Given the description of an element on the screen output the (x, y) to click on. 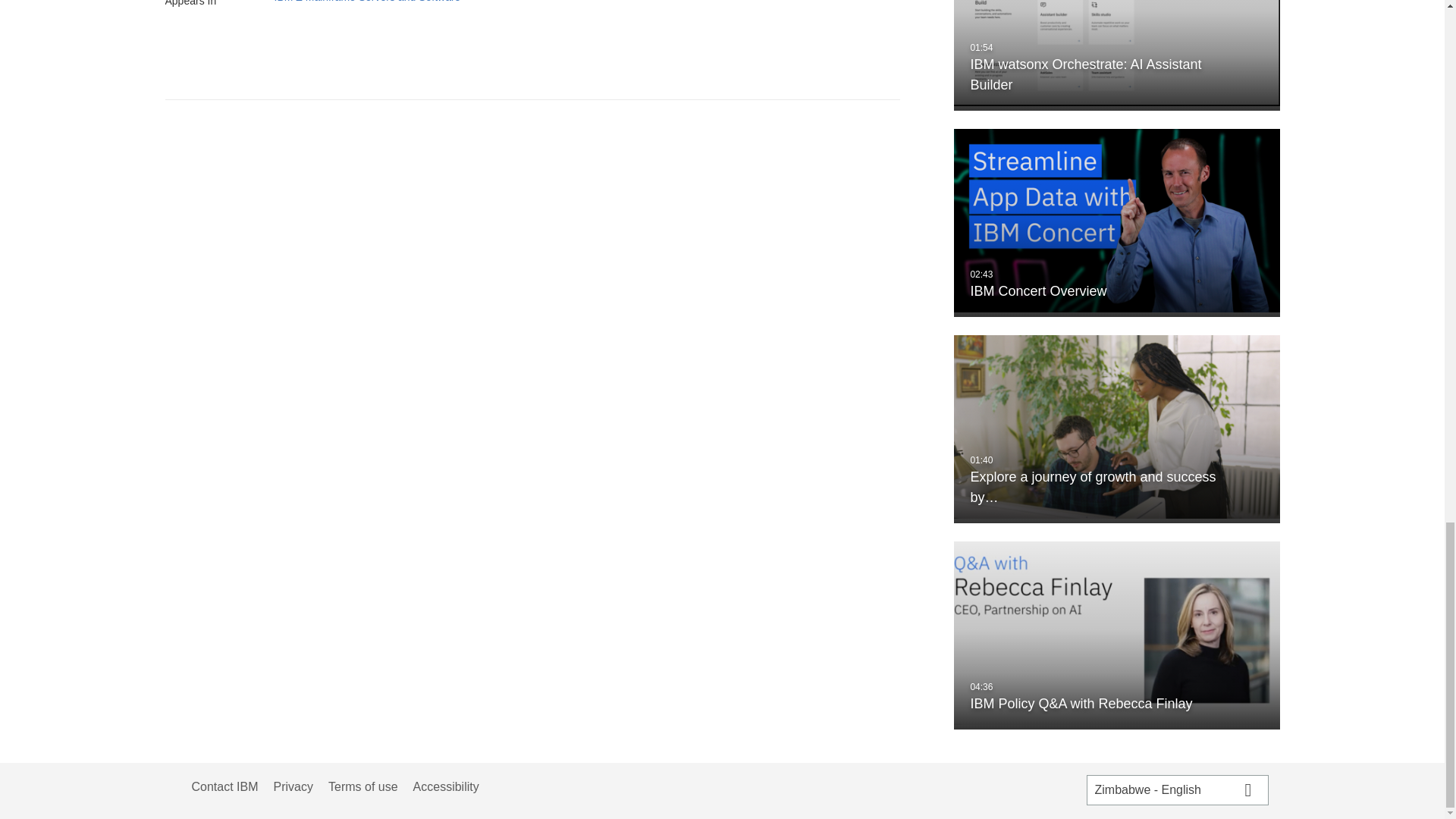
Appears In (210, 6)
IBM Concert Overview (1116, 222)
IBM watsonx Orchestrate: AI Assistant Builder (1116, 55)
